Given the description of an element on the screen output the (x, y) to click on. 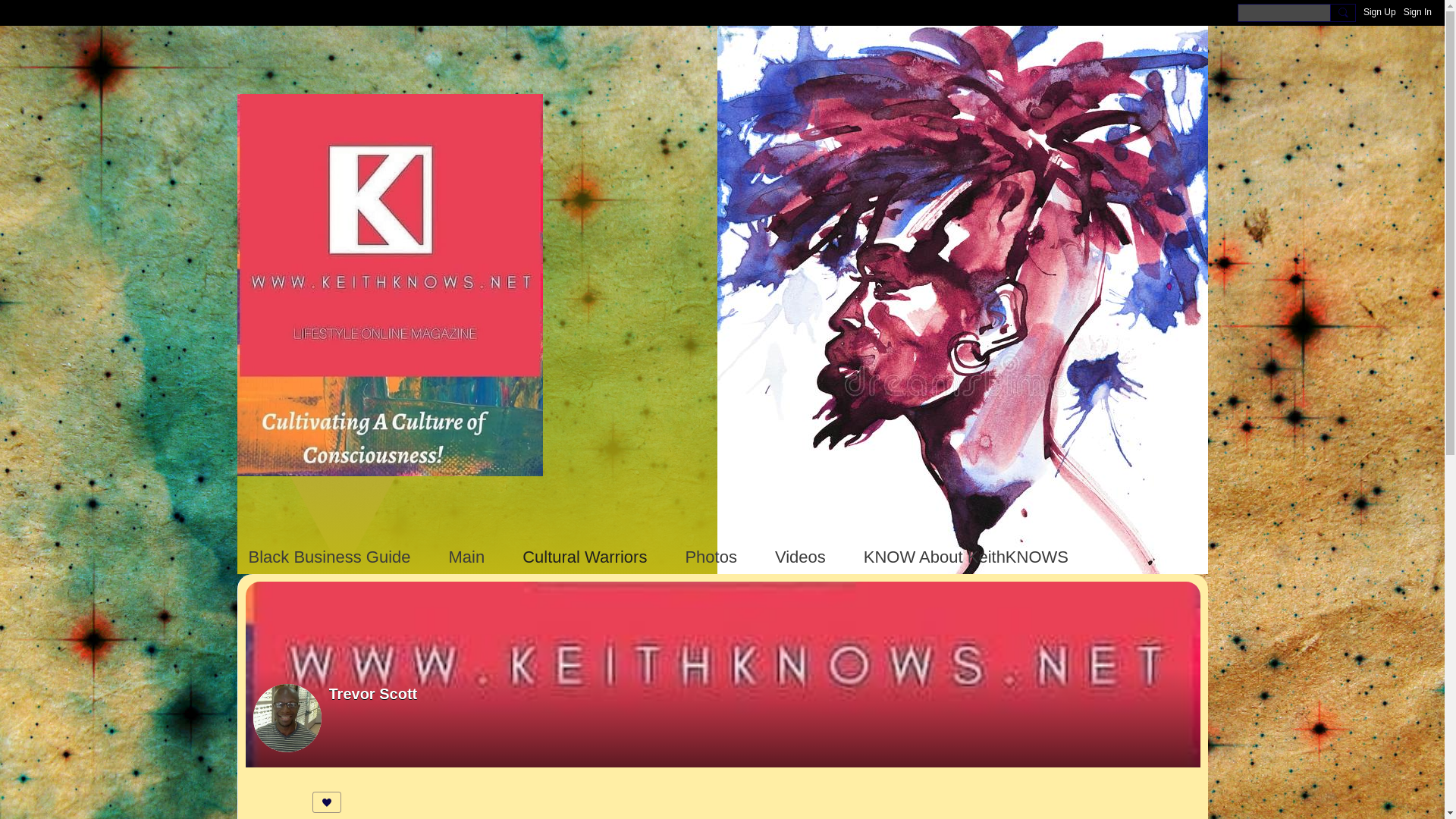
KNOW About KeithKNOWS (965, 557)
Sign Up (1379, 12)
Videos (799, 557)
Black Business Guide (328, 557)
Main (466, 557)
Photos (710, 557)
Sign In (1417, 12)
Like (326, 802)
Cultural Warriors (584, 557)
